Given the description of an element on the screen output the (x, y) to click on. 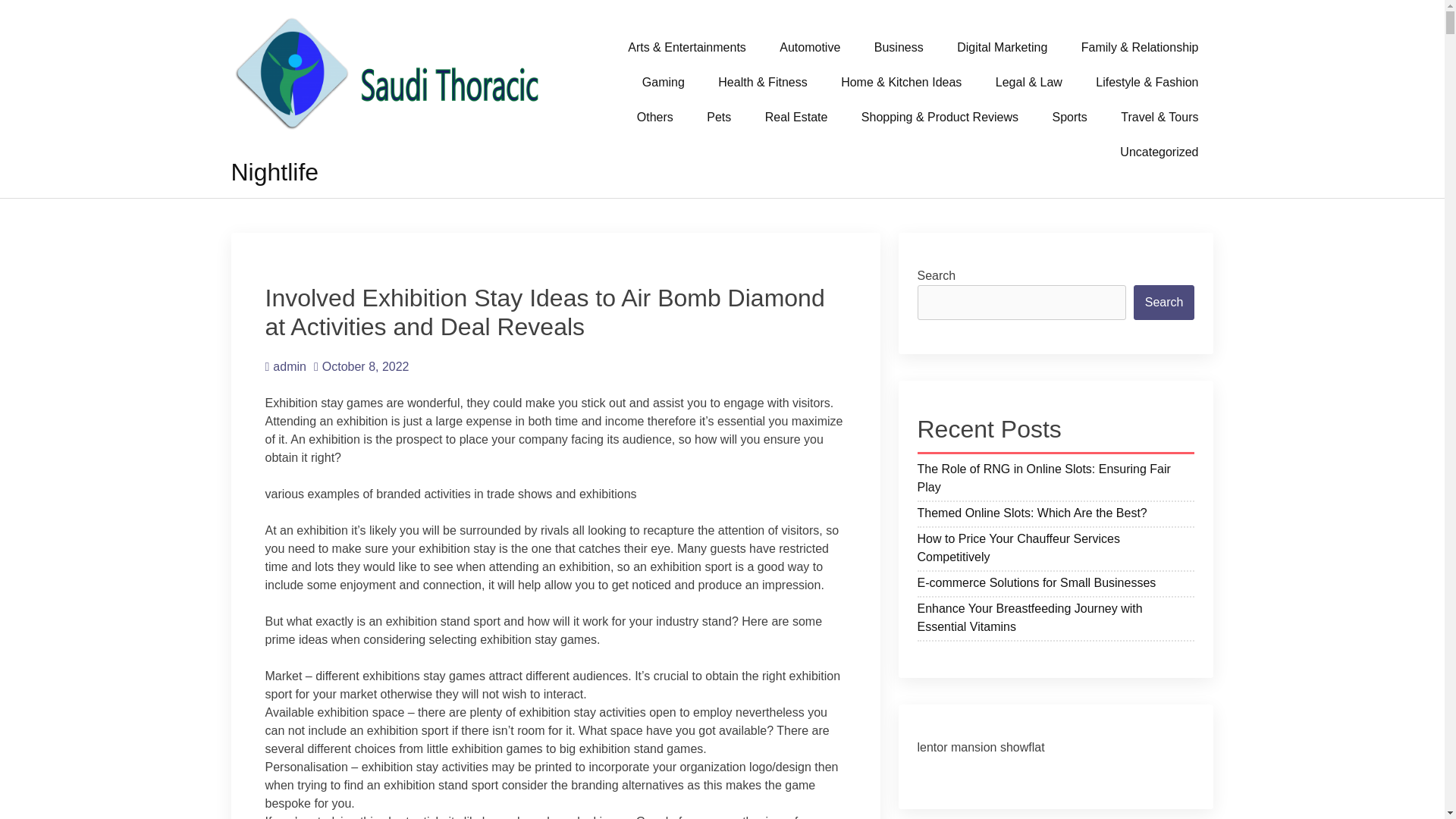
Pets (718, 116)
Others (654, 116)
Search (1164, 302)
Digital Marketing (1002, 46)
Real Estate (796, 116)
The Role of RNG in Online Slots: Ensuring Fair Play (1056, 480)
Themed Online Slots: Which Are the Best? (1056, 515)
Business (899, 46)
Sports (1069, 116)
admin (284, 366)
Gaming (663, 81)
E-commerce Solutions for Small Businesses (1056, 585)
Uncategorized (1158, 151)
October 8, 2022 (361, 366)
Nightlife (274, 171)
